Given the description of an element on the screen output the (x, y) to click on. 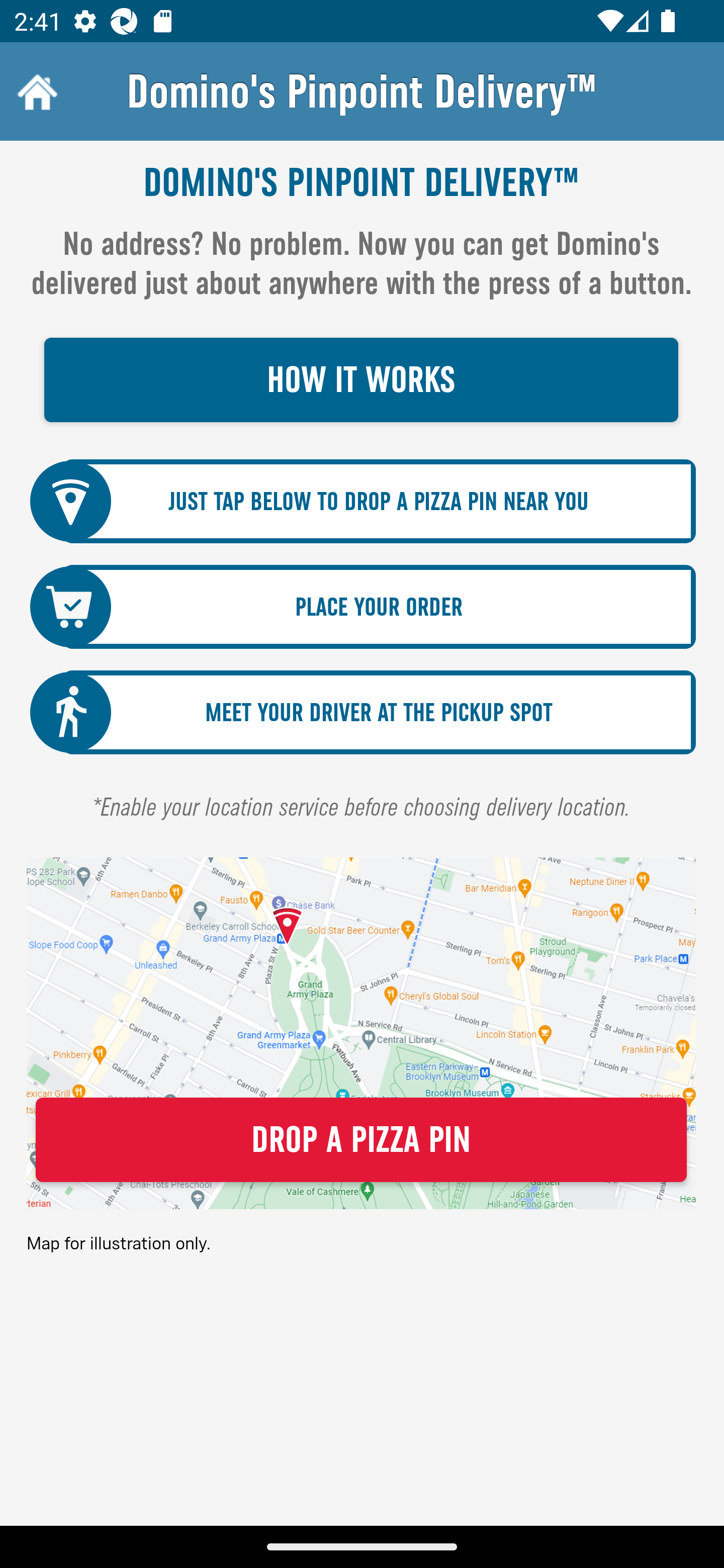
Home (35, 91)
DROP A PIZZA PIN (361, 1139)
